Given the description of an element on the screen output the (x, y) to click on. 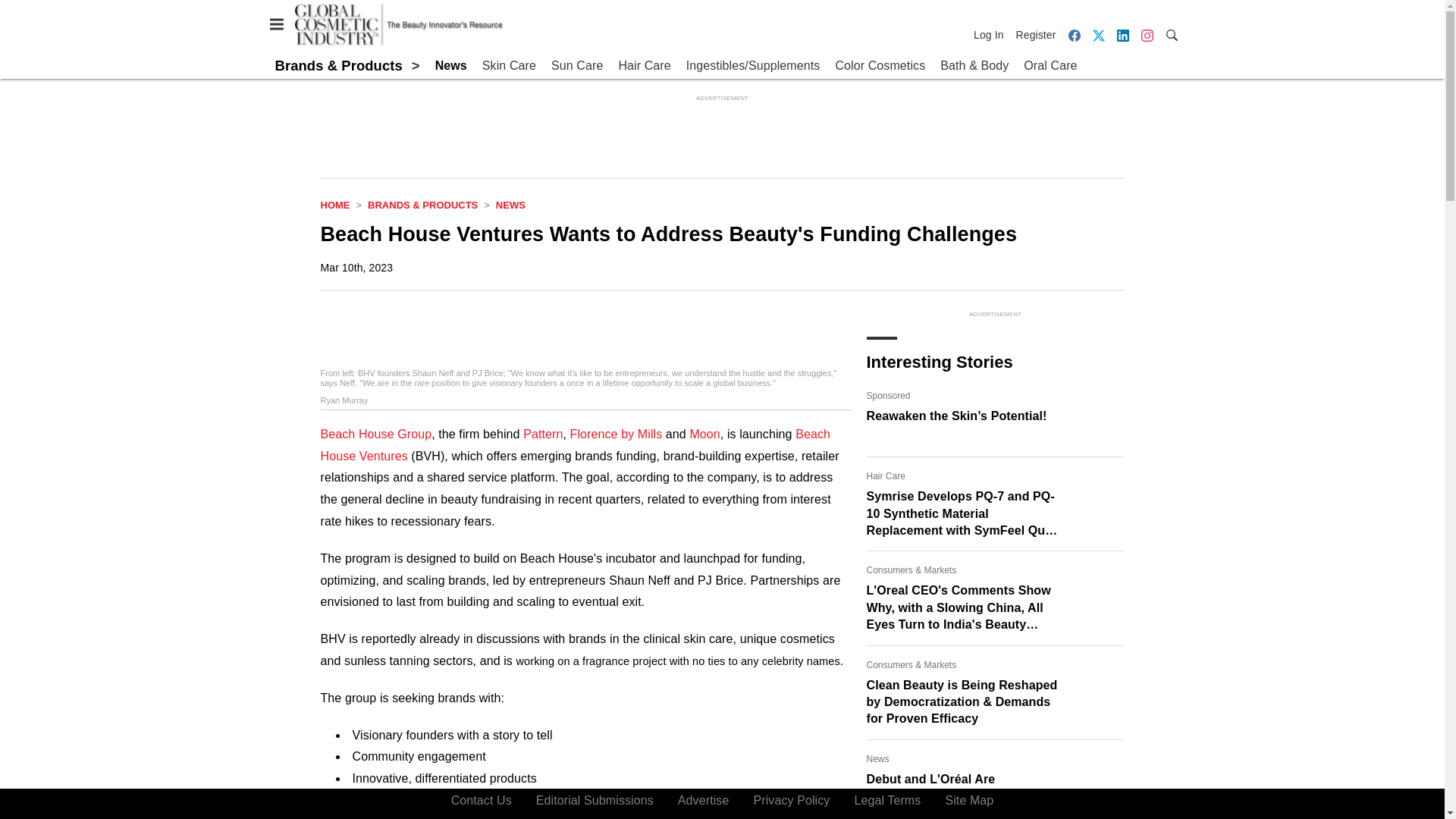
News (451, 66)
Instagram icon (1146, 35)
Search (1170, 33)
Home (334, 204)
Twitter X icon (1097, 35)
Log In (992, 34)
Sun Care (576, 66)
Color Cosmetics (879, 66)
Instagram icon (1146, 35)
Skin Care (508, 66)
LinkedIn icon (1121, 35)
Register (1036, 34)
Hair Care (643, 66)
Facebook icon (1073, 35)
Facebook icon (1073, 35)
